Given the description of an element on the screen output the (x, y) to click on. 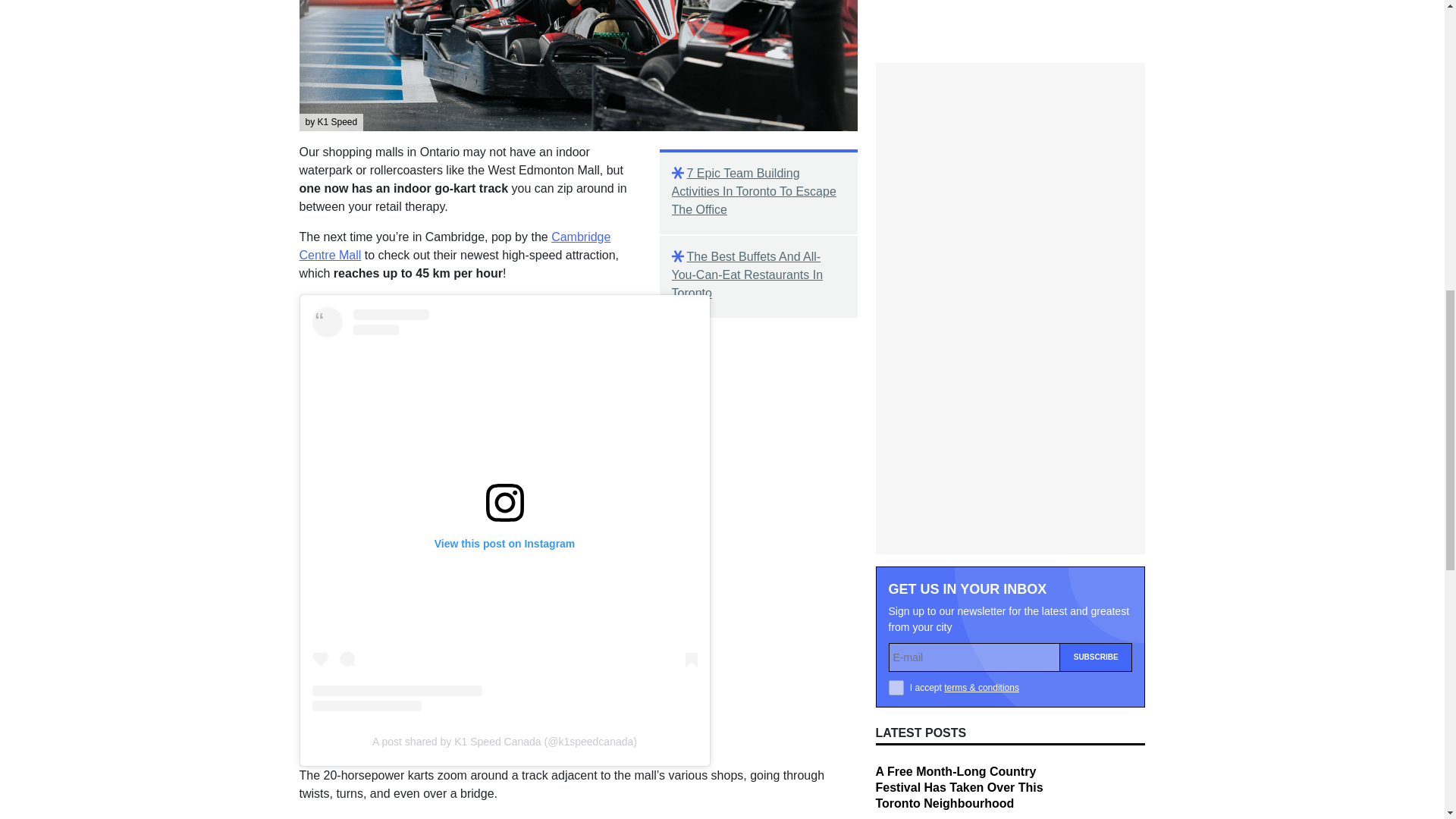
Subscribe (1095, 353)
A Rare Super Blue Moon Will Be Visible Over Toronto Tonight (958, 583)
AUGUST 19, 2024 (913, 624)
AUGUST 19, 2024 (913, 707)
The Best Buffets And All-You-Can-Eat Restaurants In Toronto (758, 275)
Subscribe (1095, 353)
1 (896, 384)
